Given the description of an element on the screen output the (x, y) to click on. 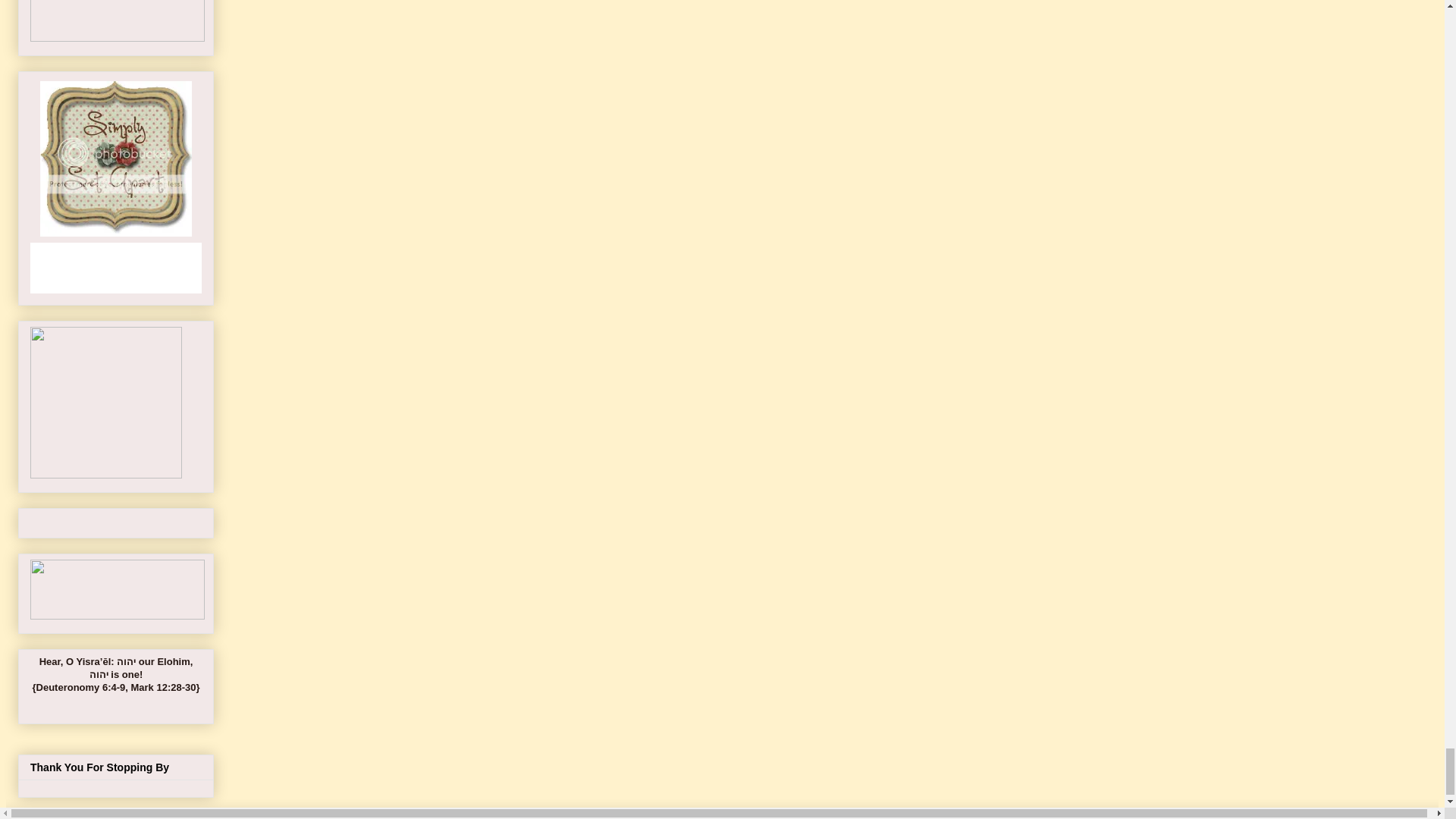
Simply Set Apart (116, 158)
